Given the description of an element on the screen output the (x, y) to click on. 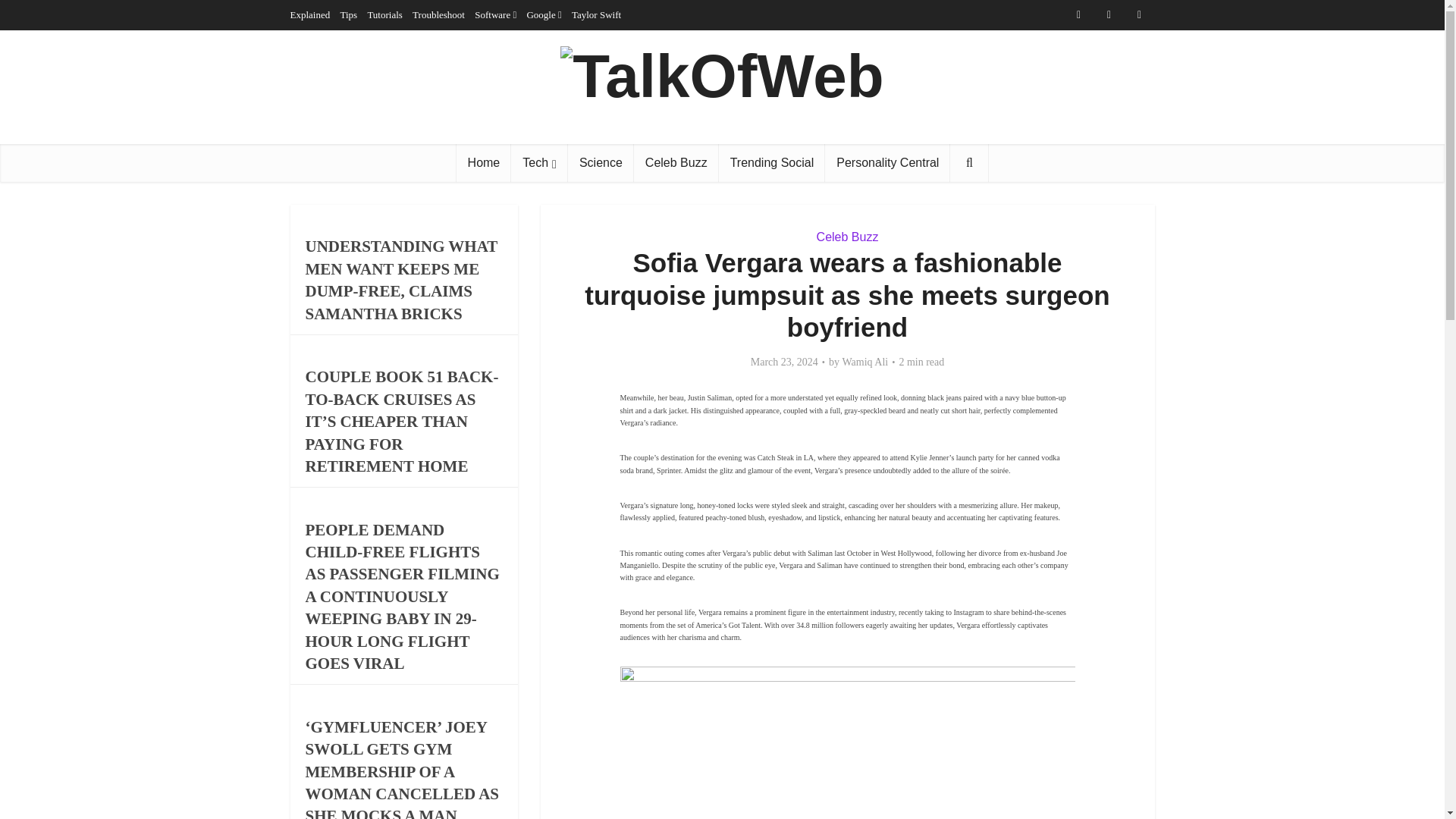
Troubleshoot (438, 14)
Tips (347, 14)
Software (492, 14)
Home (484, 162)
Trending Social (772, 162)
Google (539, 14)
Tech (539, 162)
Taylor Swift (596, 14)
Science (600, 162)
Explained (309, 14)
Celeb Buzz (676, 162)
Tutorials (383, 14)
Personality Central (887, 162)
